Given the description of an element on the screen output the (x, y) to click on. 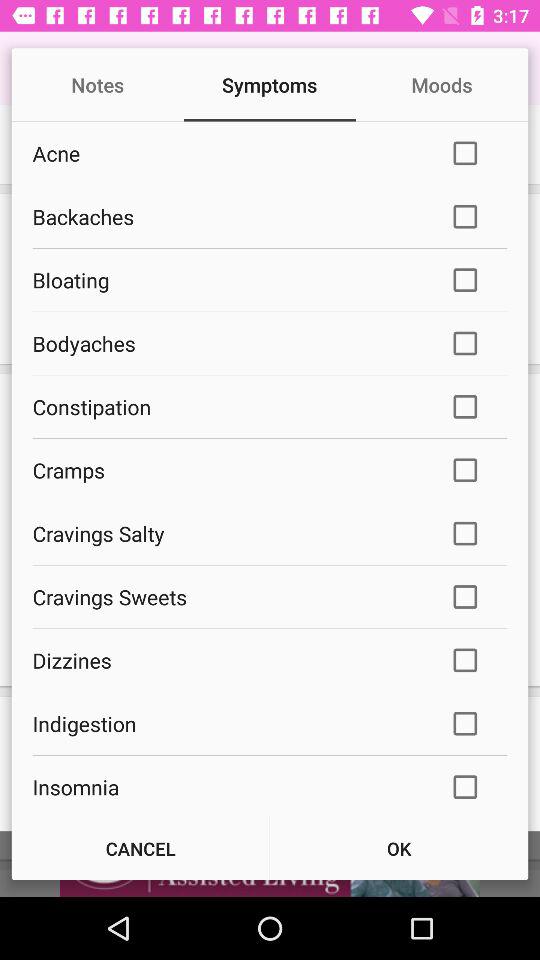
press the icon above bodyaches item (227, 279)
